Given the description of an element on the screen output the (x, y) to click on. 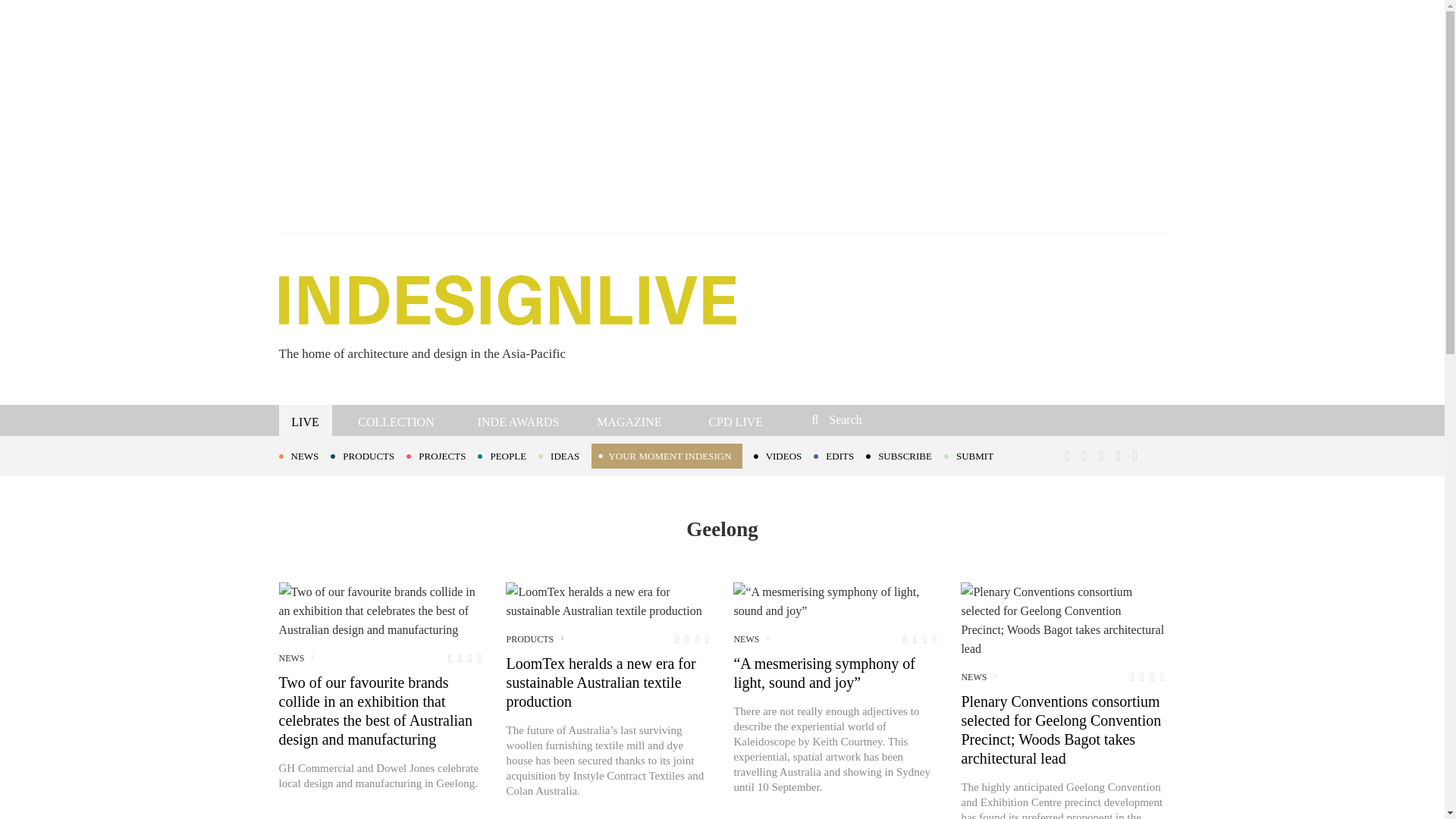
EDITS (839, 455)
PROJECTS (441, 455)
PEOPLE (507, 455)
Search (913, 418)
PRODUCTS (368, 455)
NEWS (305, 455)
YOUR MOMENT INDESIGN (666, 455)
